Given the description of an element on the screen output the (x, y) to click on. 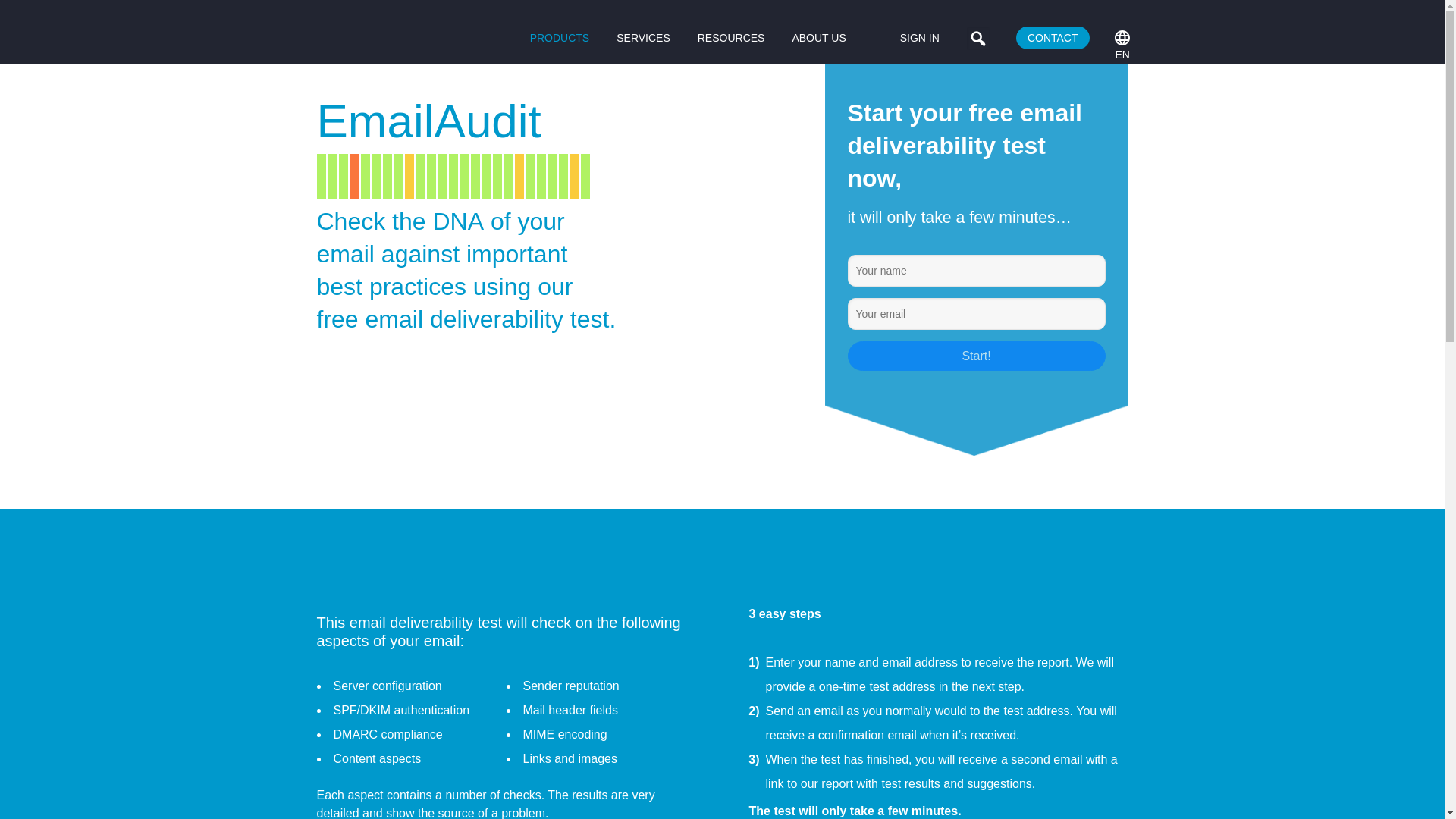
CONTACT (1052, 37)
PRODUCTS (561, 37)
English (1122, 37)
SIGN IN (919, 37)
RESOURCES (732, 37)
ABOUT US (820, 37)
Search (16, 13)
SERVICES (645, 37)
ENGLISH (1122, 37)
Start! (976, 356)
